Given the description of an element on the screen output the (x, y) to click on. 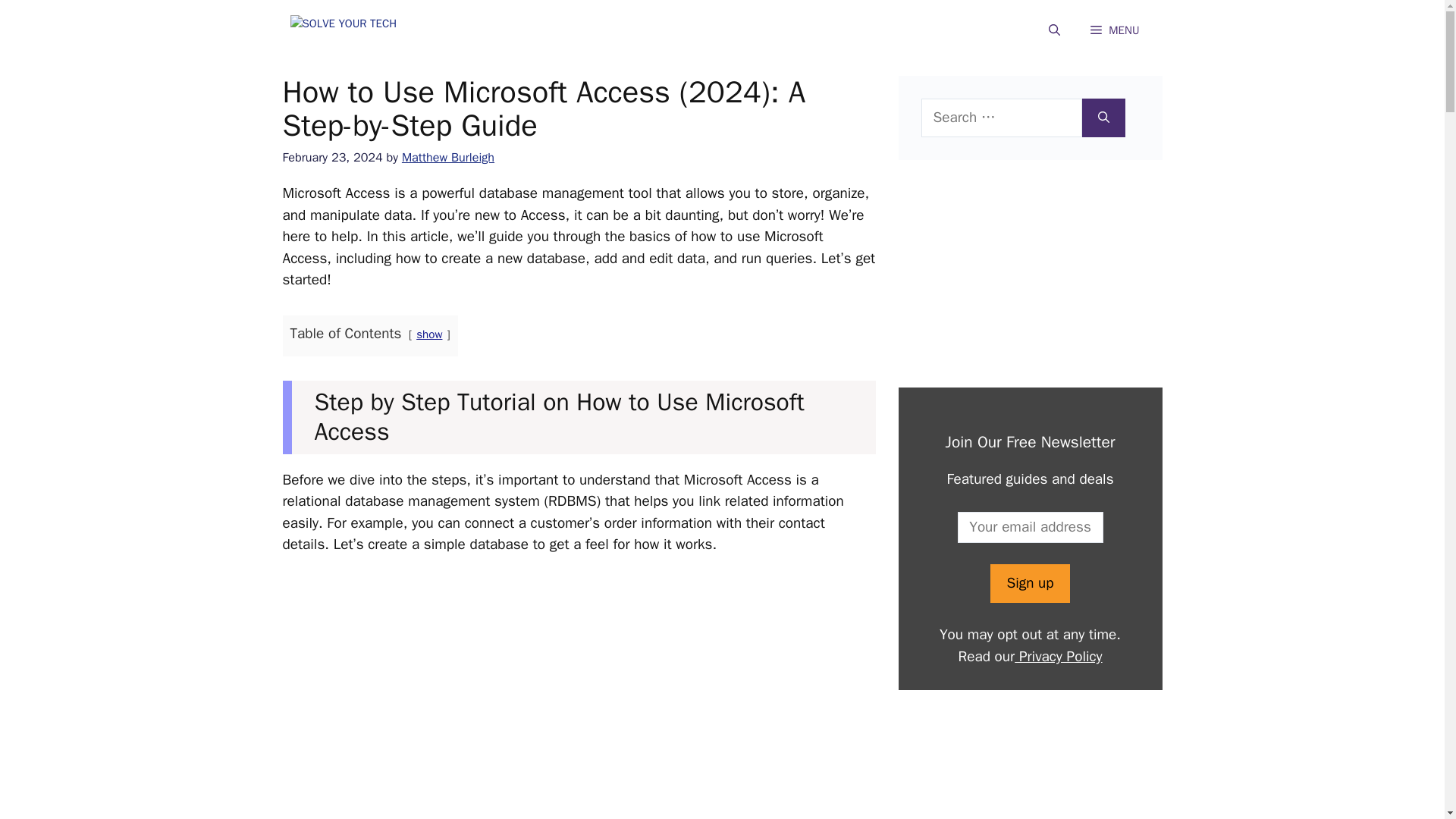
View all posts by Matthew Burleigh (448, 157)
MENU (1114, 30)
Matthew Burleigh (448, 157)
Sign up (1029, 583)
Solve Your Tech (365, 30)
show (429, 334)
